Given the description of an element on the screen output the (x, y) to click on. 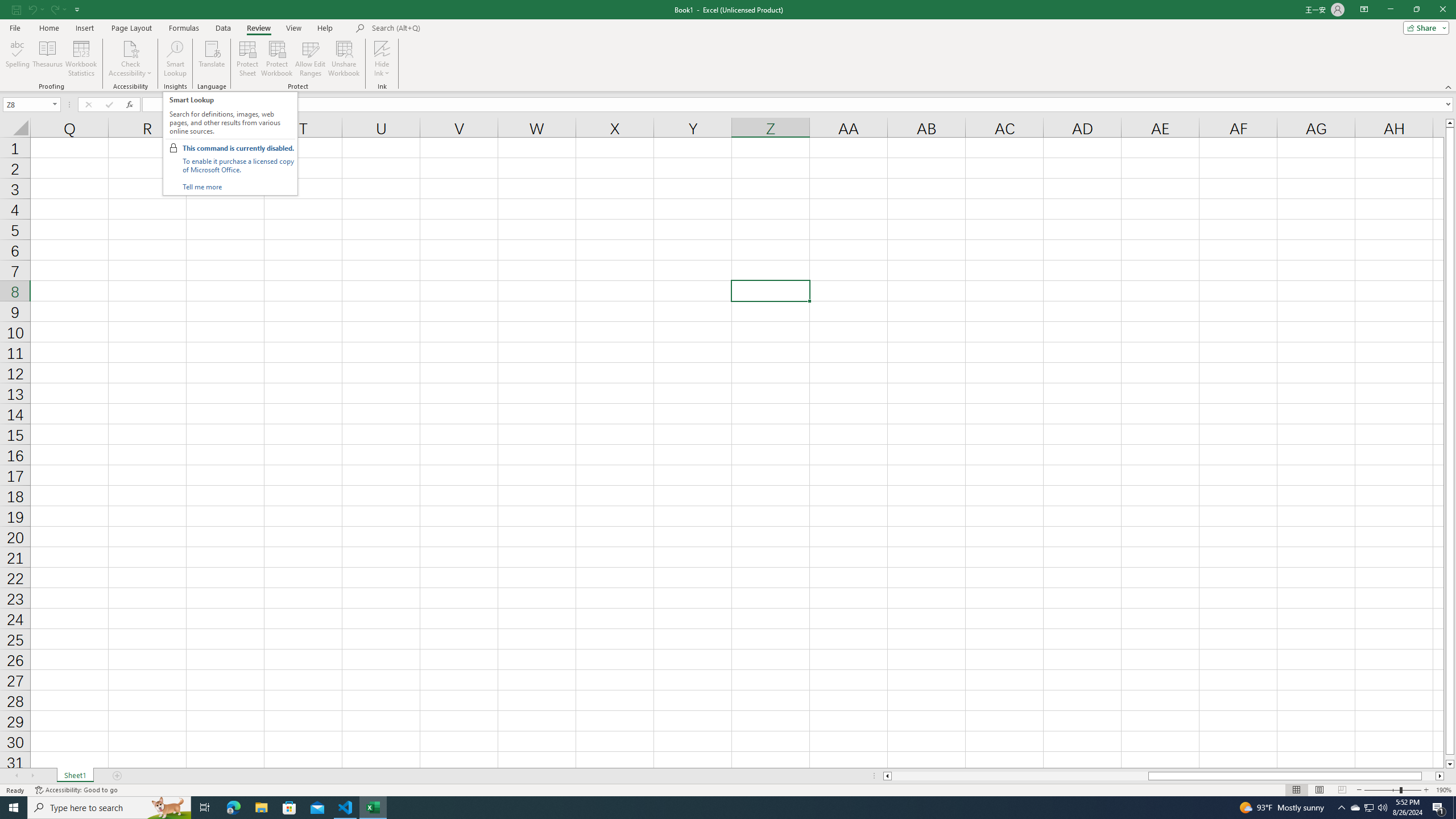
Allow Edit Ranges (310, 58)
Protect Workbook... (277, 58)
Thesaurus... (47, 58)
This command is currently disabled. (238, 148)
